Given the description of an element on the screen output the (x, y) to click on. 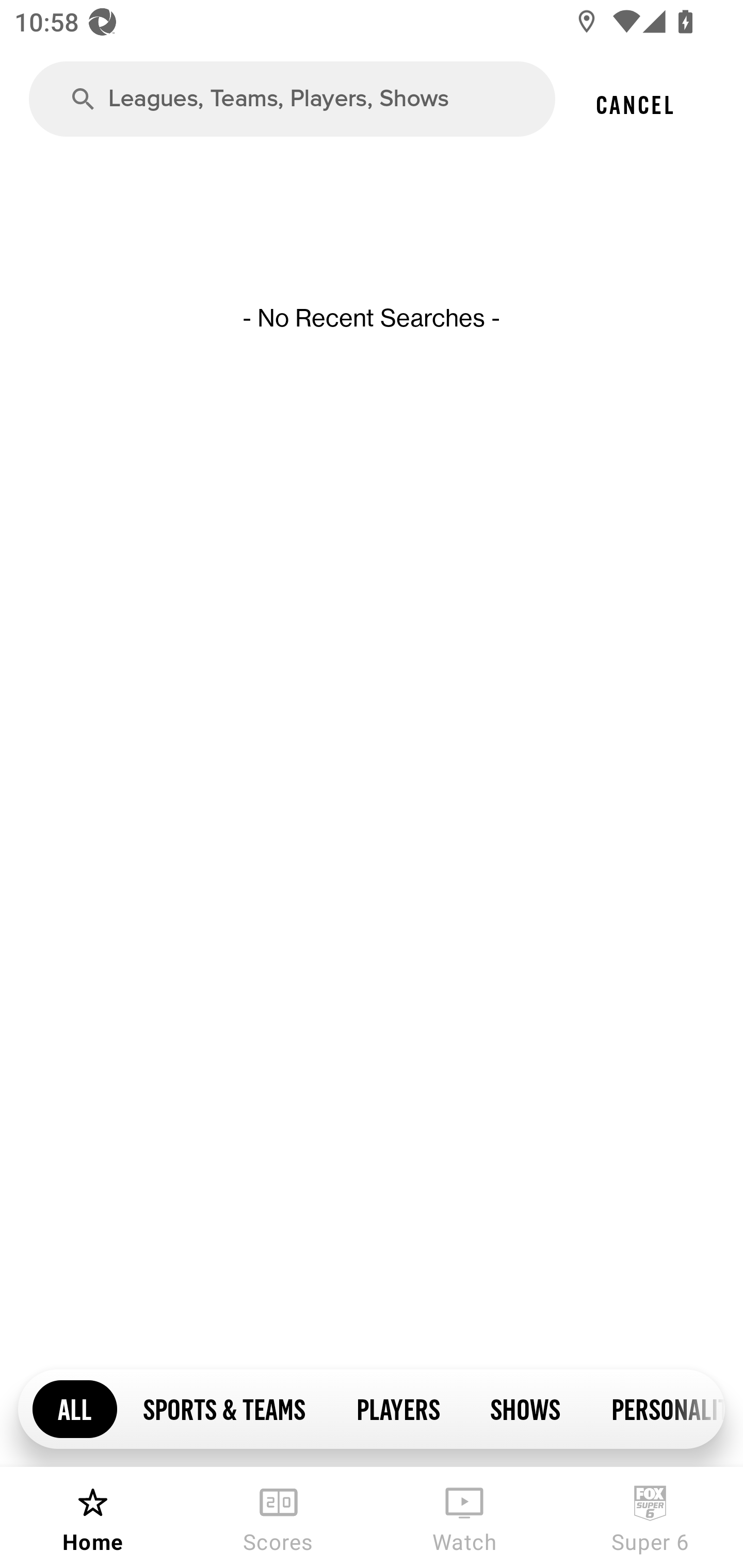
Leagues, Teams, Players, Shows (291, 98)
CANCEL (634, 104)
SPORTS & TEAMS (223, 1408)
PLAYERS (397, 1408)
SHOWS (525, 1408)
PERSONALITIES (655, 1408)
Scores (278, 1517)
Watch (464, 1517)
Super 6 (650, 1517)
